Given the description of an element on the screen output the (x, y) to click on. 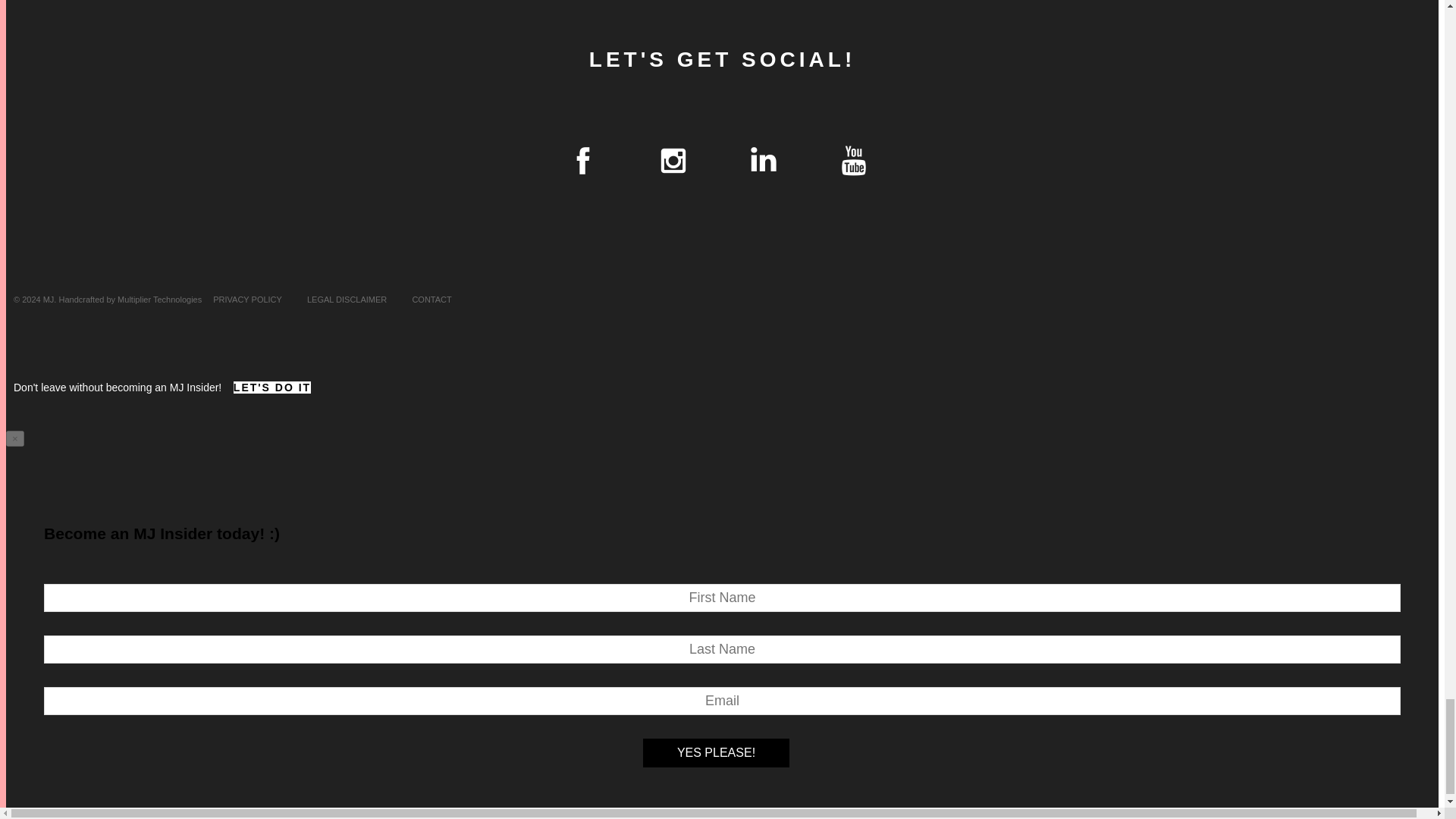
YES PLEASE! (716, 752)
